Given the description of an element on the screen output the (x, y) to click on. 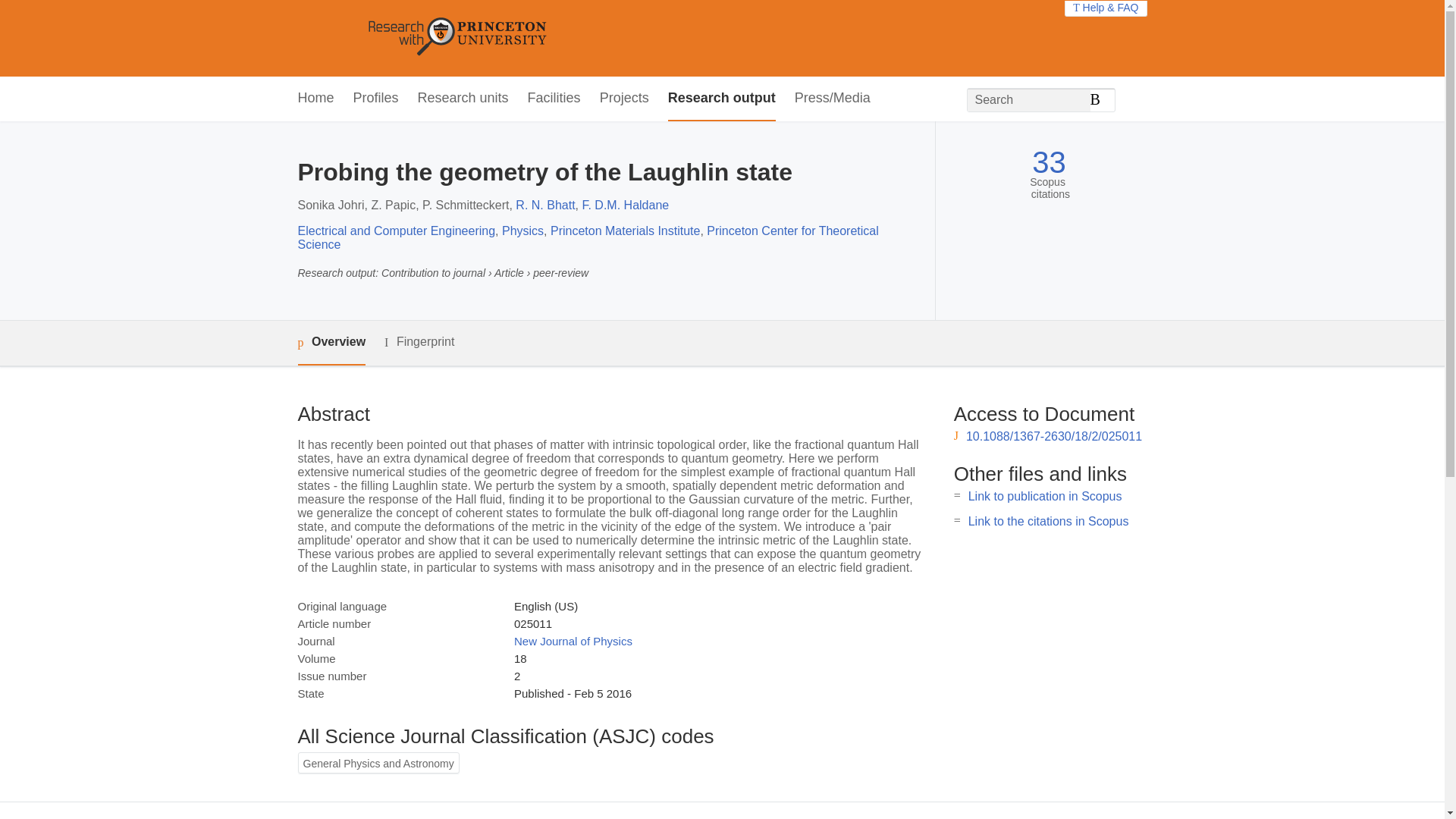
Fingerprint (419, 342)
F. D.M. Haldane (624, 205)
Profiles (375, 98)
Princeton Materials Institute (625, 230)
Princeton Center for Theoretical Science (587, 237)
Facilities (553, 98)
Research output (722, 98)
Electrical and Computer Engineering (396, 230)
Research units (462, 98)
Physics (522, 230)
